Given the description of an element on the screen output the (x, y) to click on. 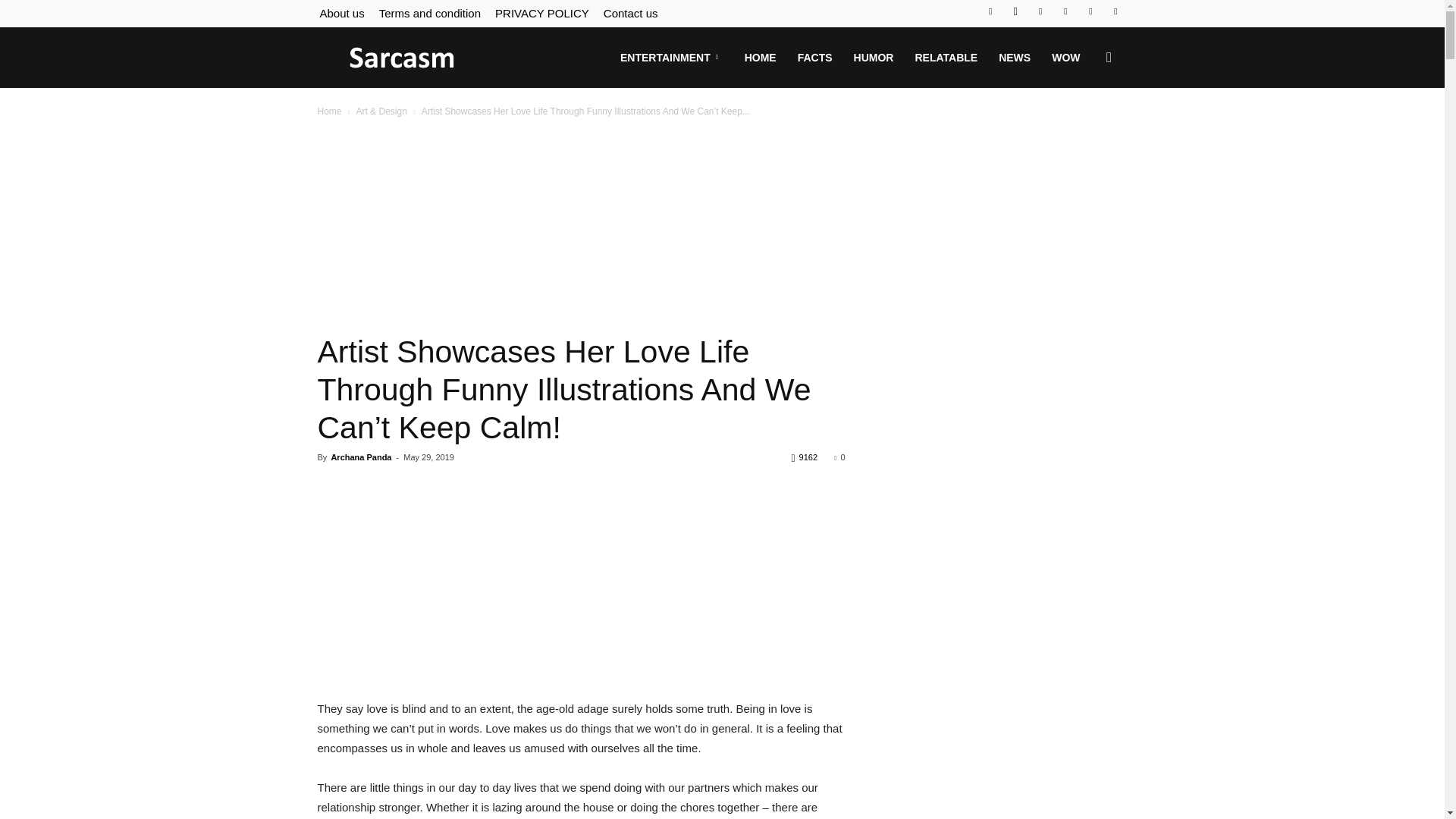
Sarcasm.co (401, 57)
Instagram (1015, 10)
Contact us (631, 12)
Vimeo (1065, 10)
Search (1085, 129)
Youtube (1114, 10)
VKontakte (1090, 10)
Twitter (1040, 10)
ENTERTAINMENT (671, 57)
Facebook (989, 10)
PRIVACY POLICY (542, 12)
Terms and condition (429, 12)
About us (342, 12)
